Given the description of an element on the screen output the (x, y) to click on. 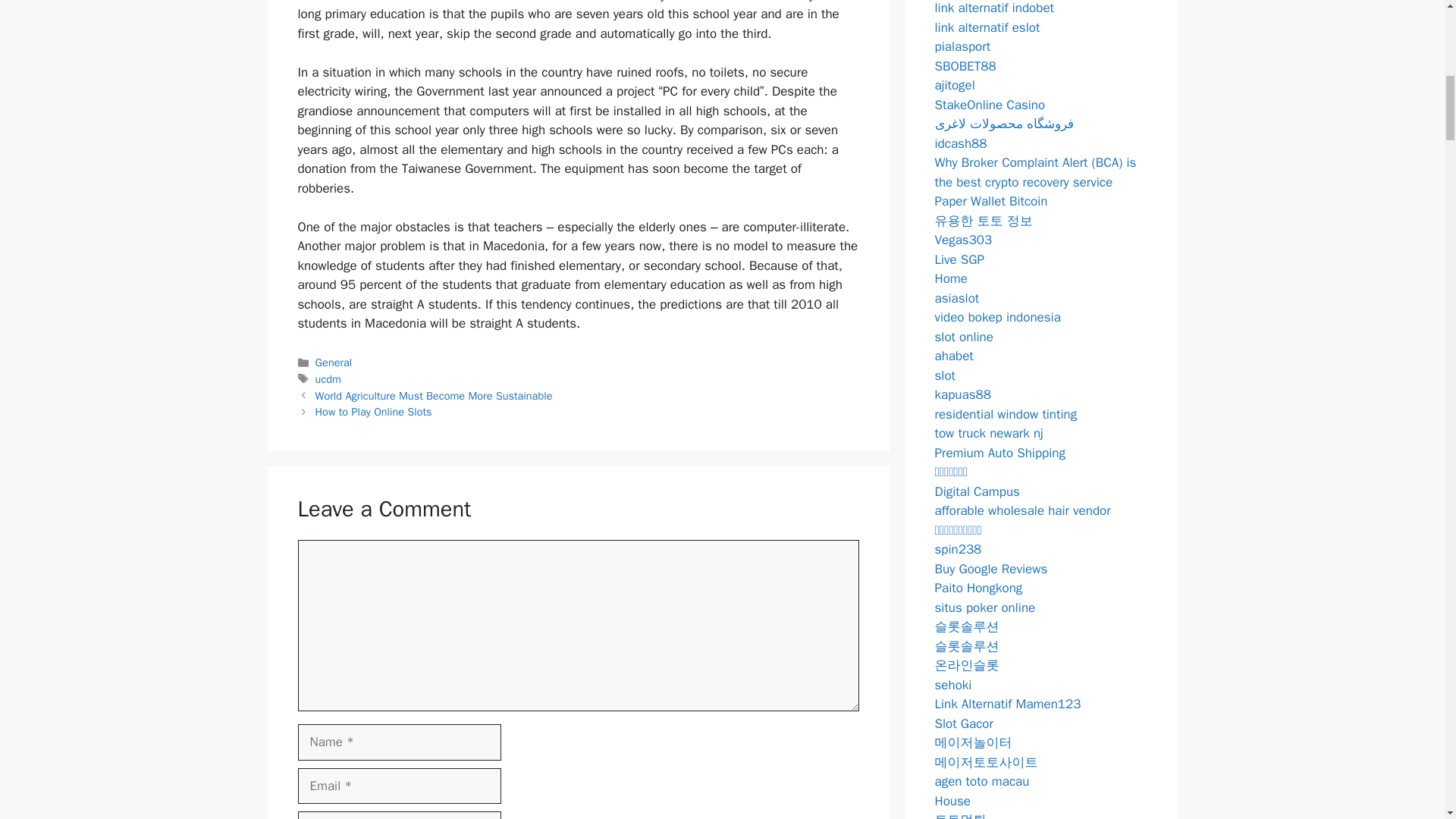
General (333, 362)
World Agriculture Must Become More Sustainable (434, 395)
How to Play Online Slots (373, 411)
ucdm (327, 378)
